Given the description of an element on the screen output the (x, y) to click on. 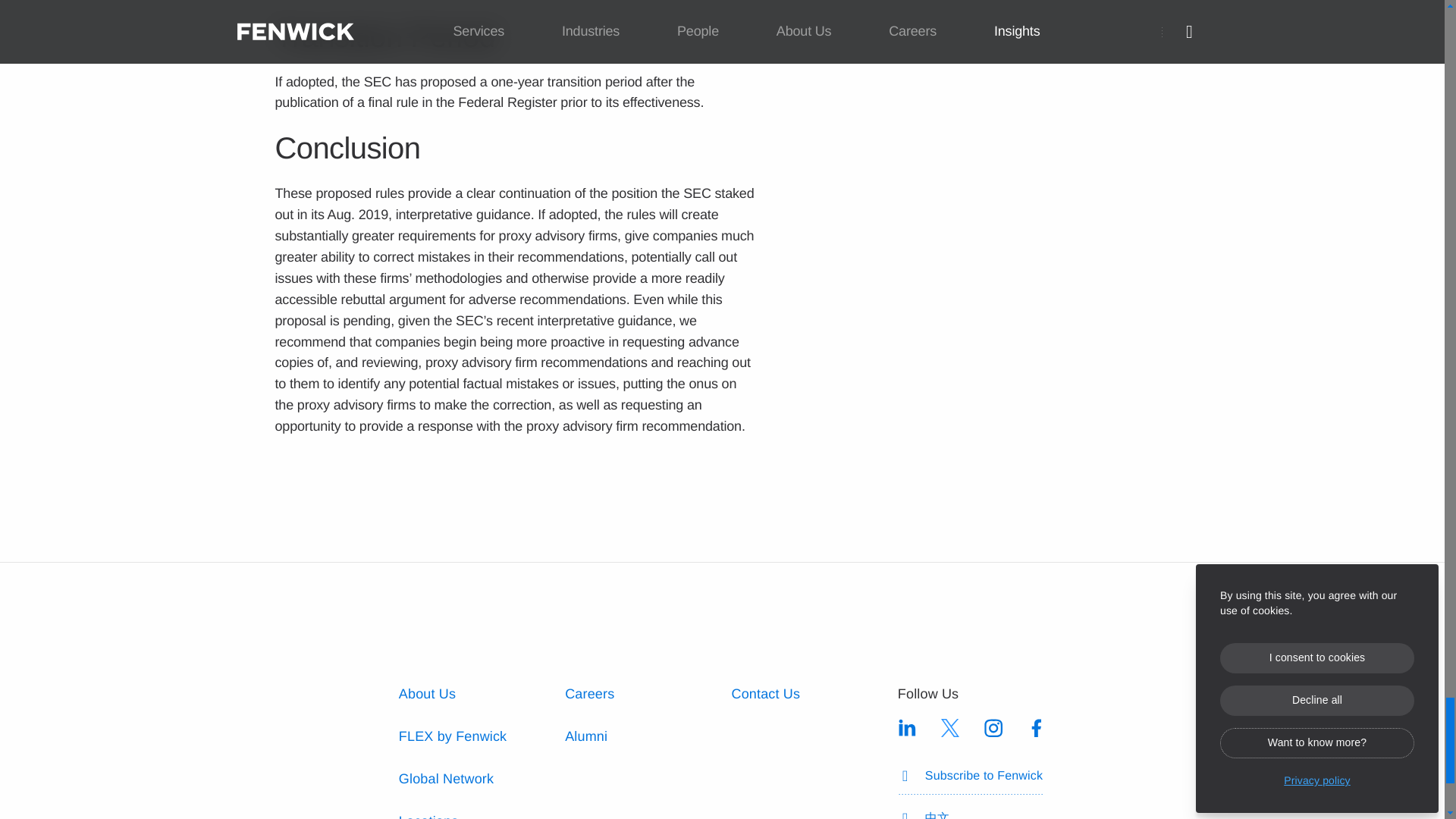
Locations (428, 816)
FLEX by Fenwick (452, 735)
Careers (589, 693)
Alumni (585, 735)
Global Network (445, 778)
About Us (426, 693)
Contact Us (764, 693)
